Given the description of an element on the screen output the (x, y) to click on. 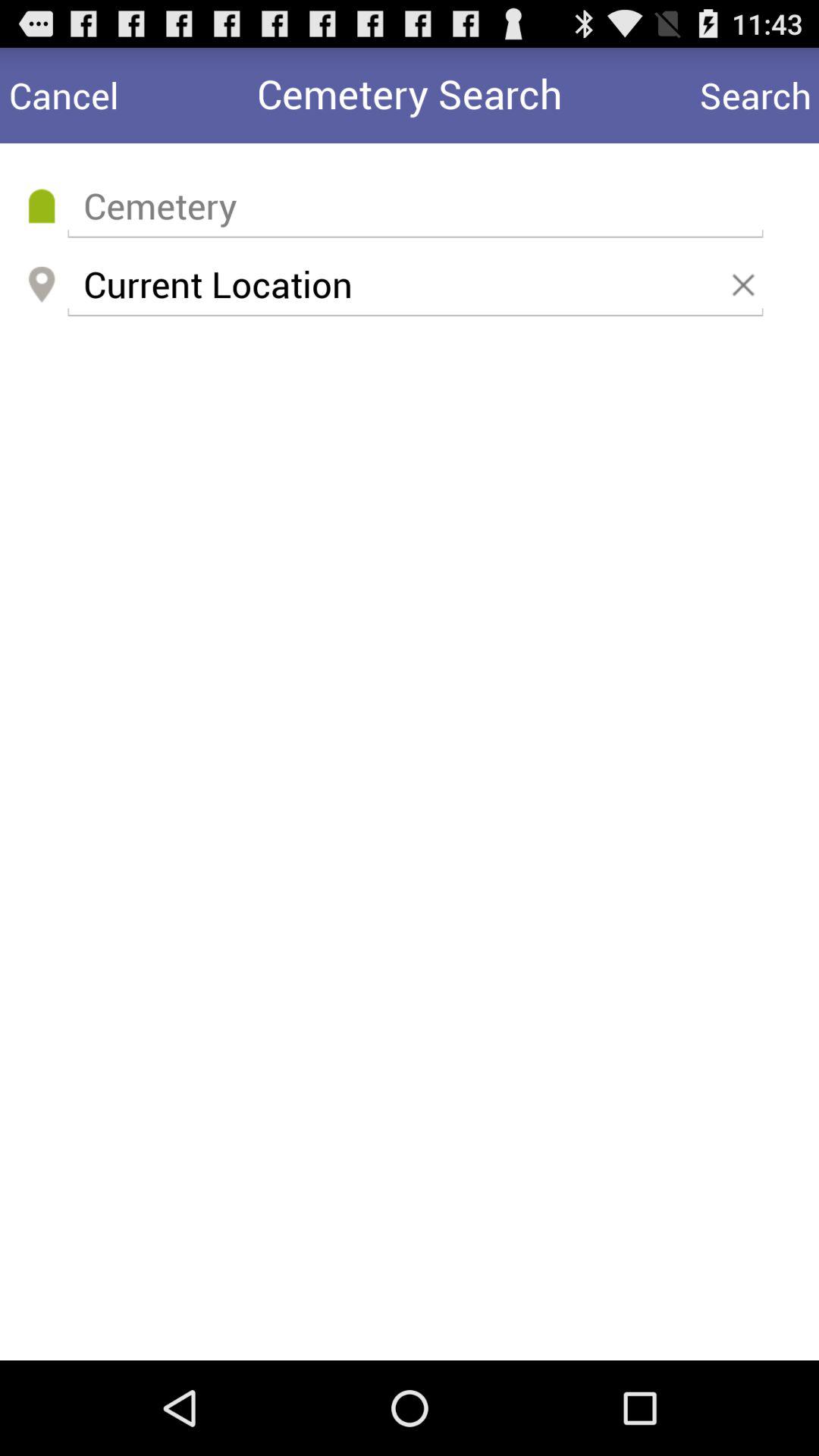
scroll until current location icon (415, 284)
